Given the description of an element on the screen output the (x, y) to click on. 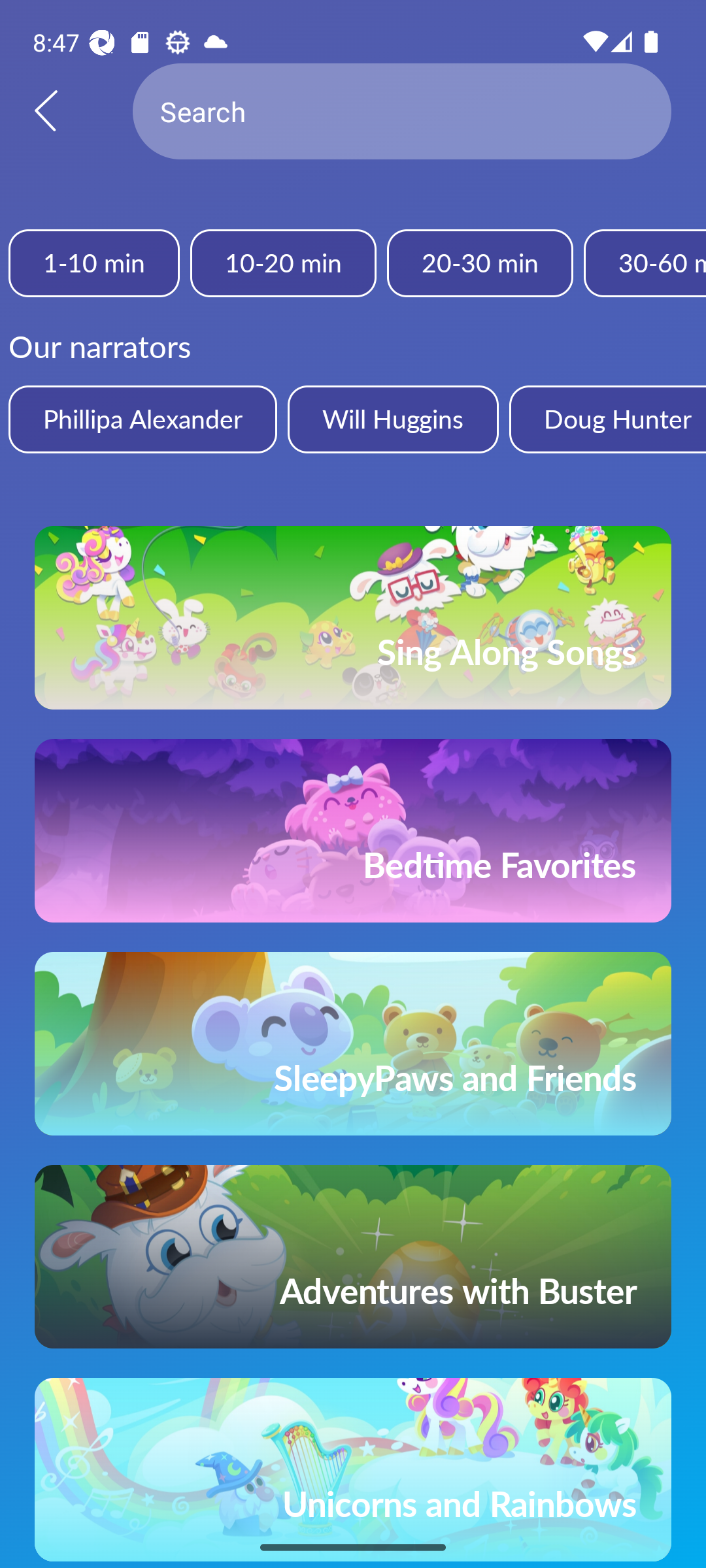
Search (401, 110)
1-10 min (94, 262)
10-20 min (282, 262)
20-30 min (479, 262)
30-60 min (644, 262)
Phillipa Alexander (142, 419)
Will Huggins (392, 419)
Doug Hunter (607, 419)
Sing Along Songs (352, 616)
Bedtime Favorites (352, 829)
SleepyPaws and Friends (352, 1043)
Adventures with Buster (352, 1256)
Unicorns and Rainbows (352, 1469)
